Given the description of an element on the screen output the (x, y) to click on. 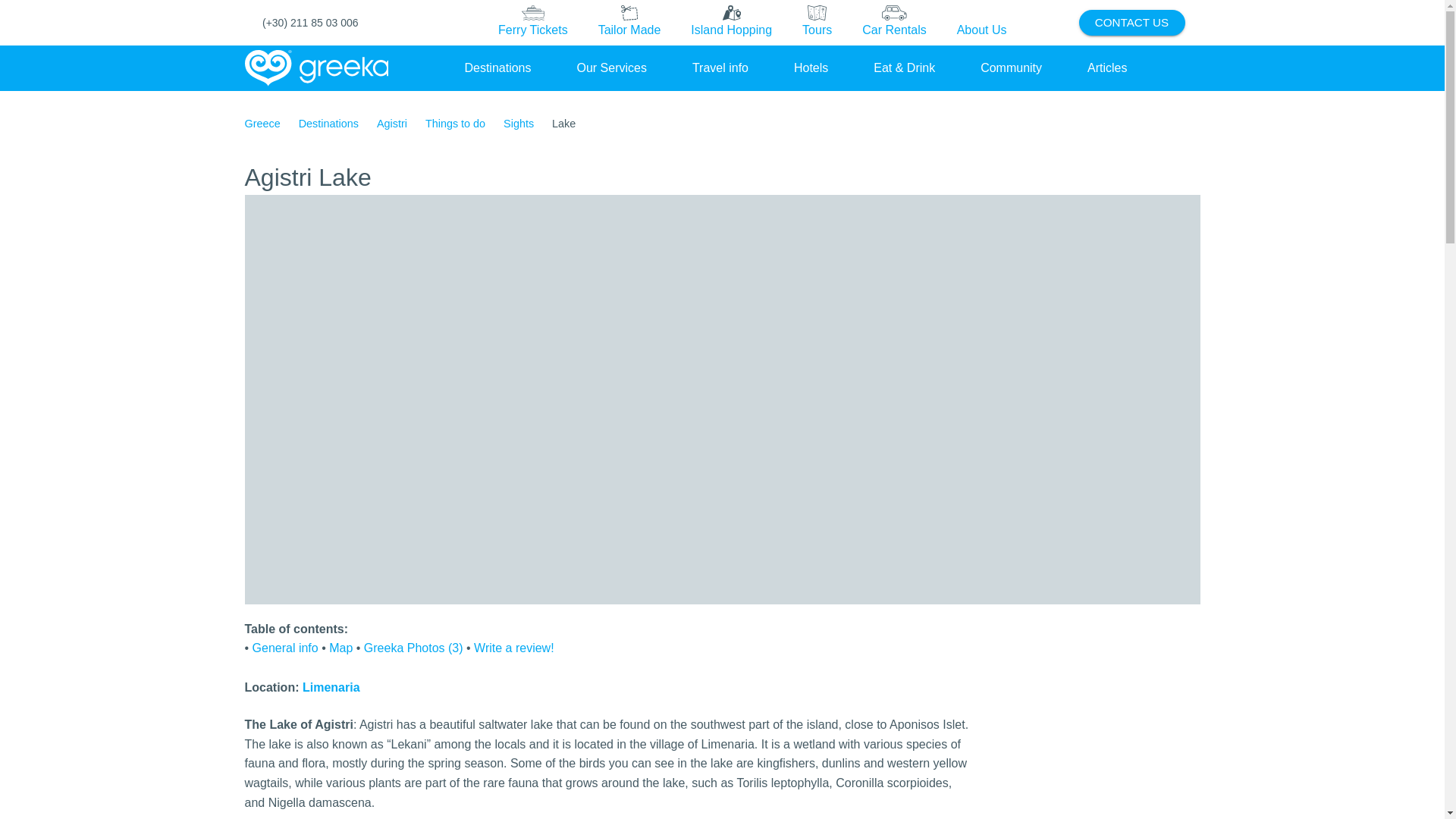
Ferry tickets (533, 22)
Hotels (810, 67)
Sights (518, 123)
Map (340, 647)
Car Rentals (893, 22)
CONTACT US (1131, 22)
About Us (981, 22)
Tailor made services (630, 22)
Community Feed (1010, 67)
Tours (817, 22)
Car rentals (893, 22)
Destinations (328, 123)
Island hopping (731, 22)
Greece (261, 123)
Things to do (454, 123)
